Given the description of an element on the screen output the (x, y) to click on. 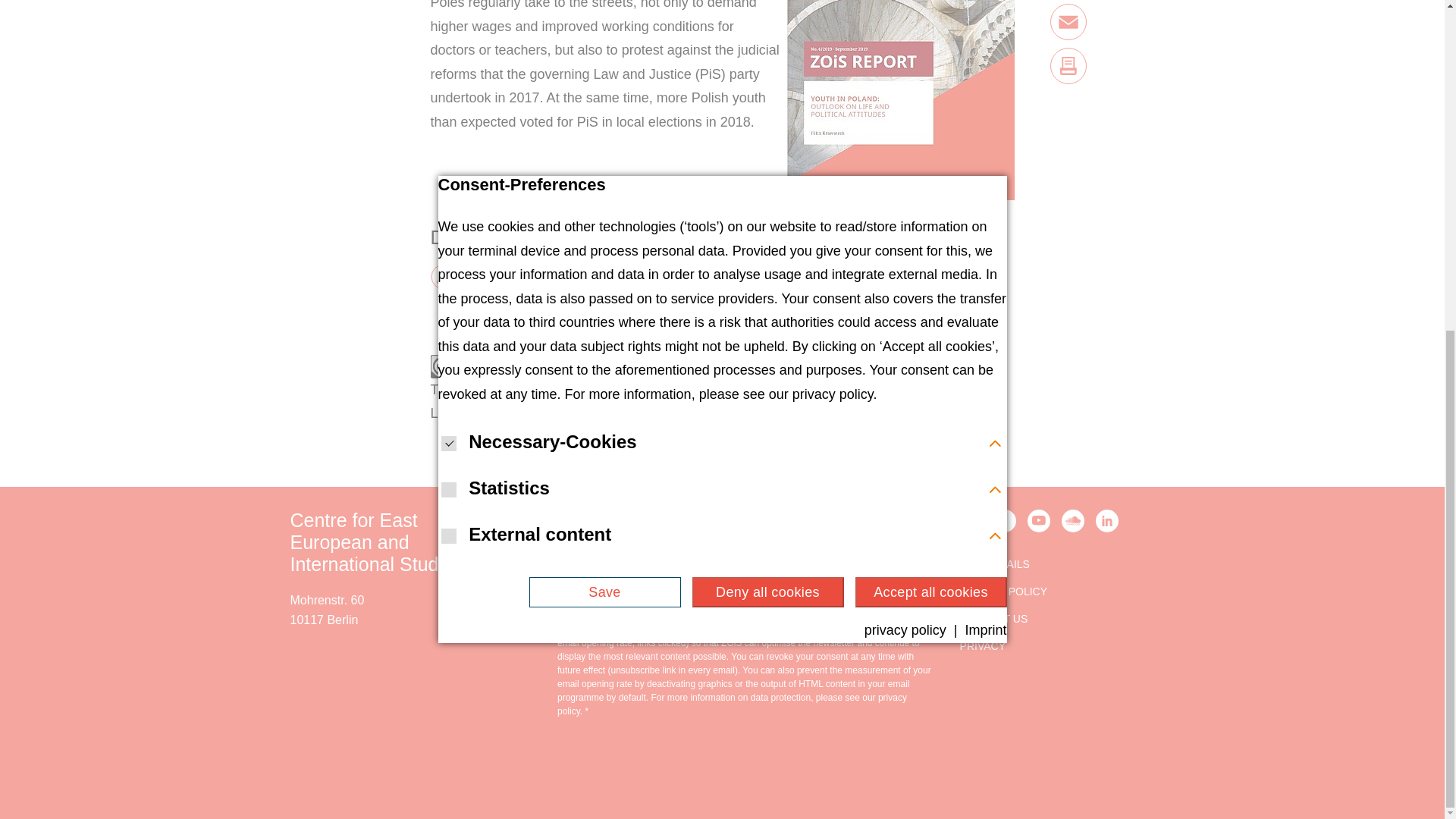
1 (542, 616)
